Given the description of an element on the screen output the (x, y) to click on. 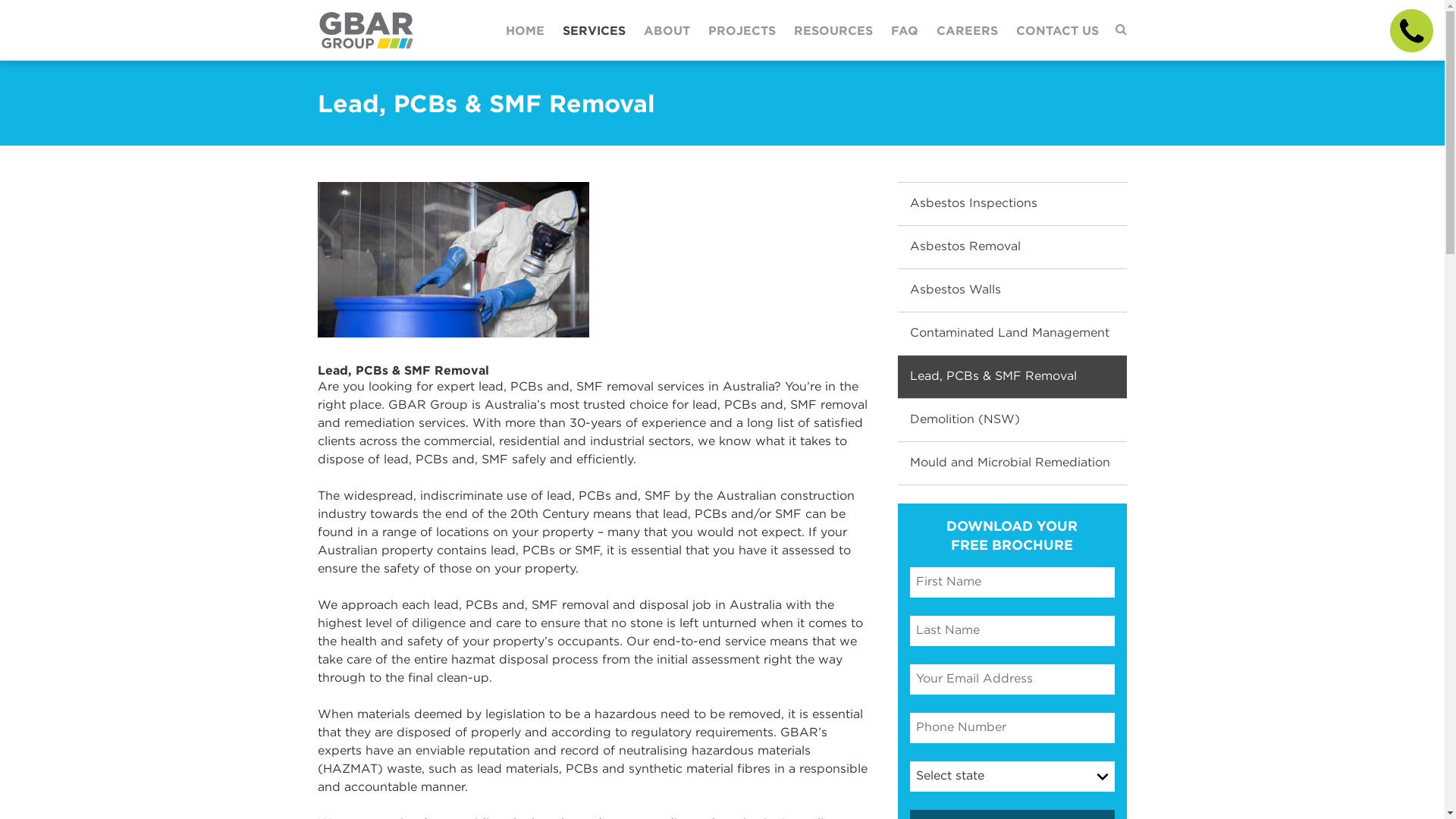
Asbestos Removal Element type: text (1011, 246)
Asbestos Inspections Element type: text (1011, 203)
Demolition (NSW) Element type: text (1011, 419)
Contaminated Land Management Element type: text (1011, 333)
CAREERS Element type: text (966, 30)
PROJECTS Element type: text (741, 30)
Asbestos Walls Element type: text (1011, 290)
Lead, PCBs & SMF Removal Element type: text (1011, 376)
SERVICES Element type: text (593, 30)
ABOUT Element type: text (666, 30)
FAQ Element type: text (904, 30)
Send Element type: text (509, 624)
Mould and Microbial Remediation Element type: text (1011, 463)
CONTACT US Element type: text (1057, 30)
HOME Element type: text (524, 30)
RESOURCES Element type: text (832, 30)
